Given the description of an element on the screen output the (x, y) to click on. 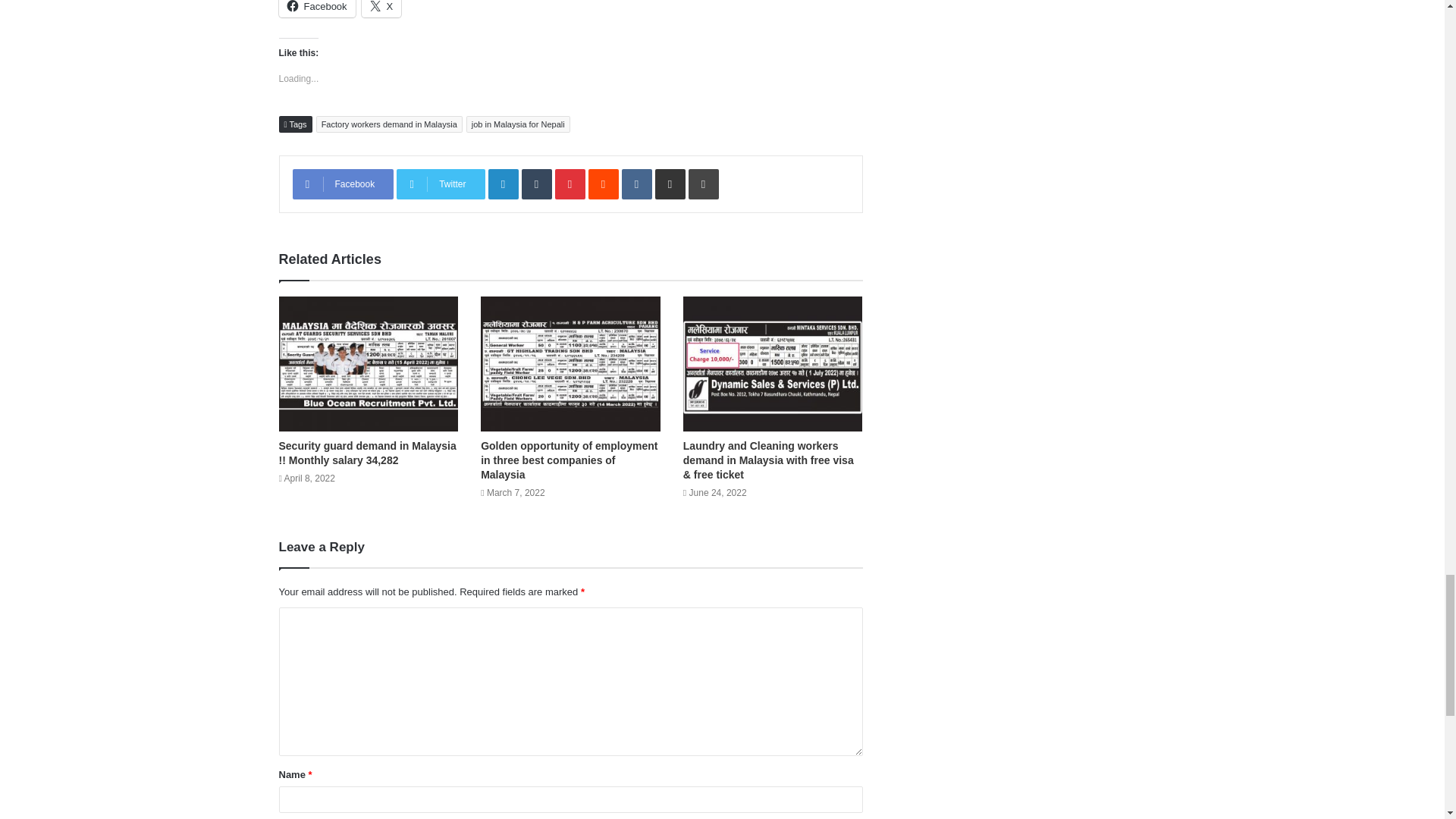
X (381, 8)
Facebook (343, 183)
Pinterest (569, 183)
Security guard demand in Malaysia !! Monthly salary 34,282 (368, 452)
Facebook (317, 8)
Print (703, 183)
Factory workers demand in Malaysia (389, 124)
Twitter (440, 183)
LinkedIn (502, 183)
Click to share on X (381, 8)
Security guard demand in Malaysia !! Monthly salary 34,282 (368, 363)
job in Malaysia for Nepali (517, 124)
Share via Email (670, 183)
